Given the description of an element on the screen output the (x, y) to click on. 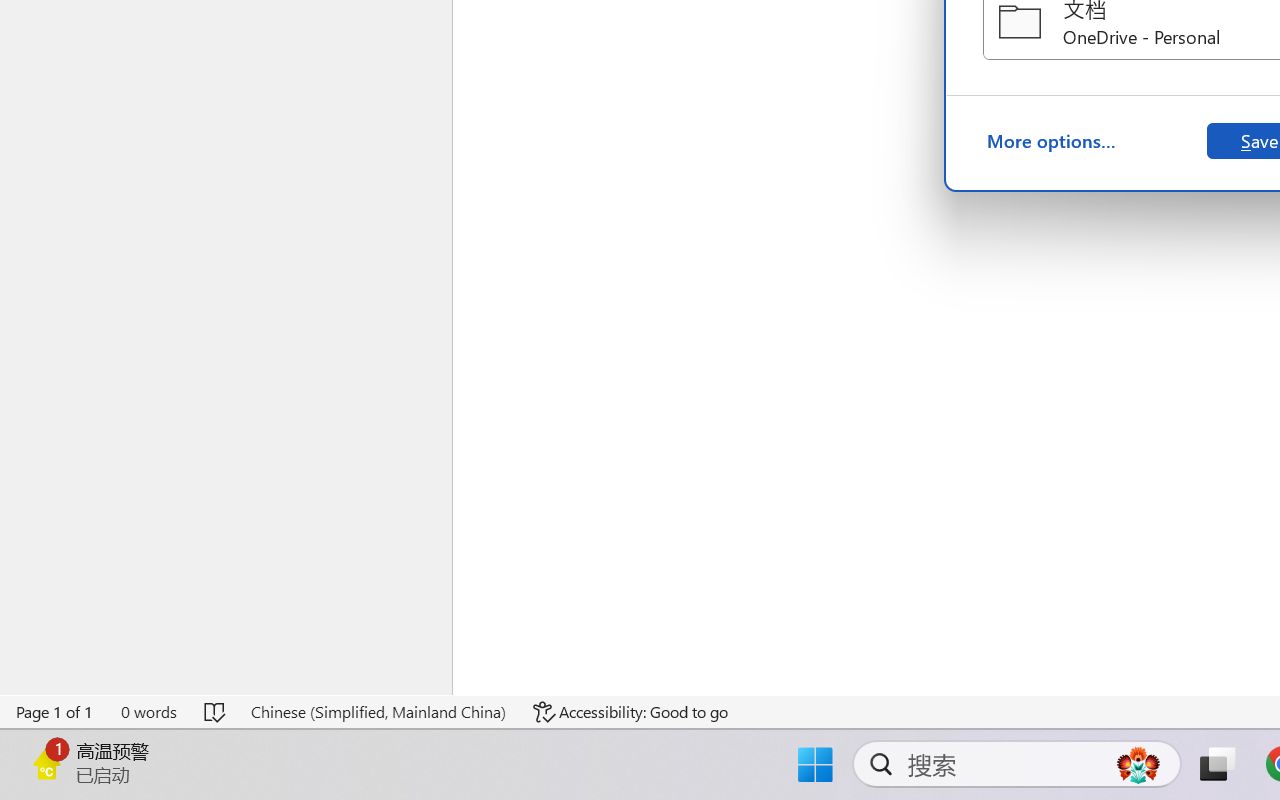
Slide Title and Vertical Text Layout: used by no slides (212, 449)
Slide Quote Name Card Layout: used by no slides (212, 105)
Slide True or False Layout: used by no slides (212, 277)
Slide Vertical Title and Text Layout: used by no slides (212, 621)
